Given the description of an element on the screen output the (x, y) to click on. 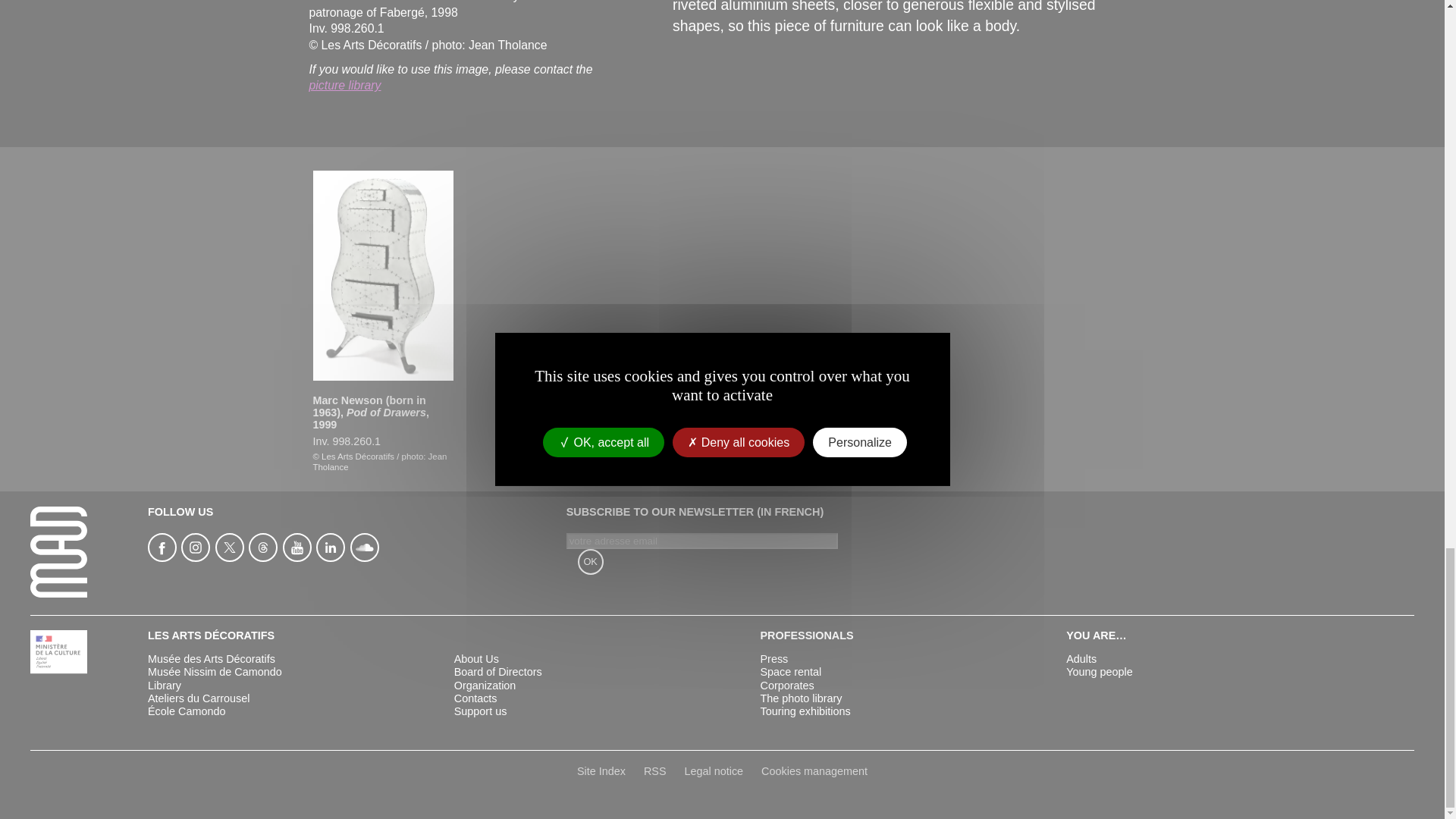
OK (591, 561)
